Given the description of an element on the screen output the (x, y) to click on. 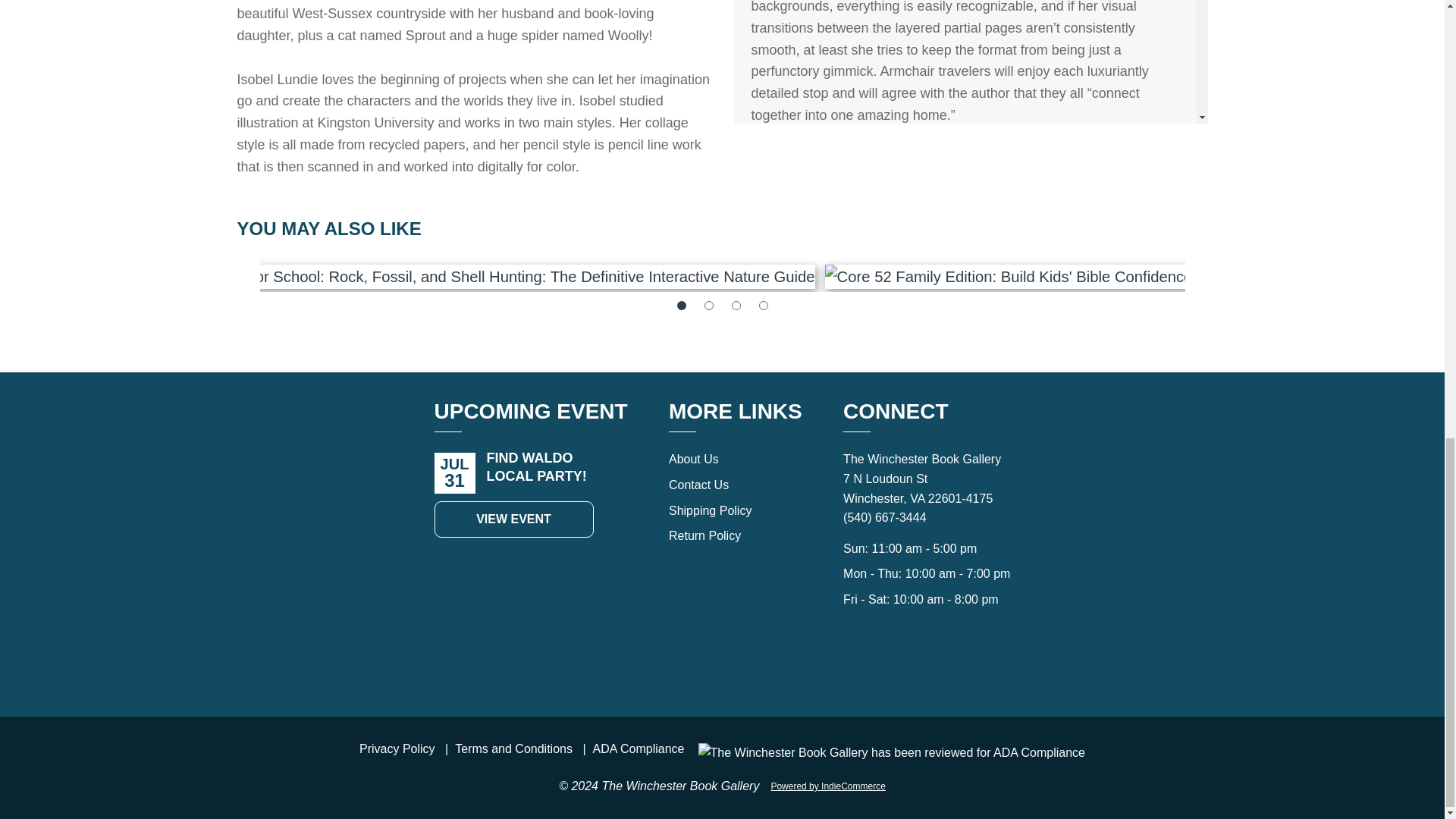
Connect with Facebook (909, 663)
Connect with Instagram (943, 663)
